Given the description of an element on the screen output the (x, y) to click on. 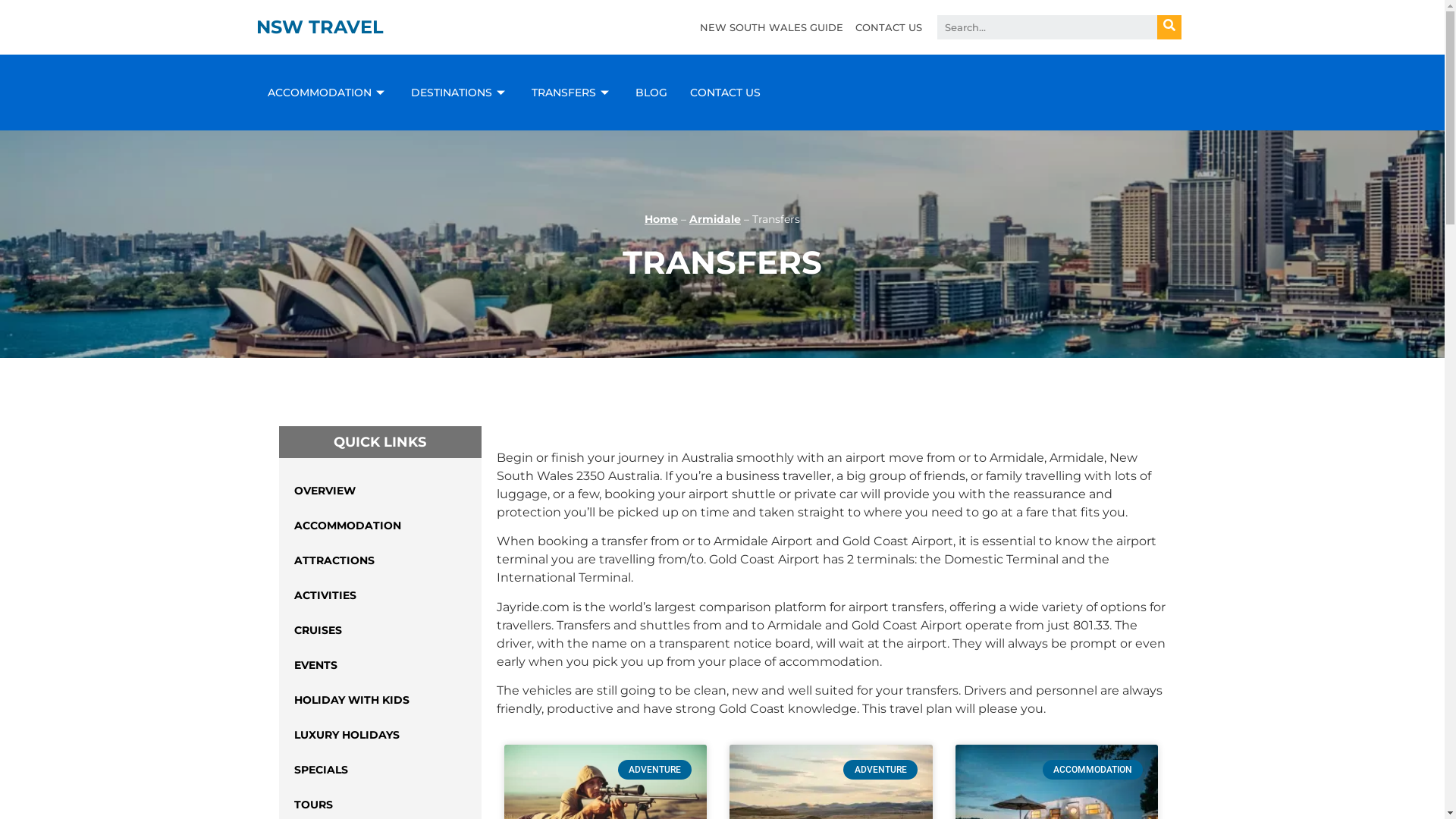
DESTINATIONS Element type: text (458, 92)
LUXURY HOLIDAYS Element type: text (380, 734)
EVENTS Element type: text (380, 664)
ACCOMMODATION Element type: text (327, 92)
CONTACT US Element type: text (888, 27)
ACTIVITIES Element type: text (380, 594)
ACCOMMODATION Element type: text (380, 525)
BLOG Element type: text (650, 92)
ATTRACTIONS Element type: text (380, 559)
CONTACT US Element type: text (724, 92)
NSW TRAVEL Element type: text (319, 26)
Home Element type: text (660, 218)
TRANSFERS Element type: text (572, 92)
HOLIDAY WITH KIDS Element type: text (380, 699)
Armidale Element type: text (714, 218)
OVERVIEW Element type: text (380, 490)
SPECIALS Element type: text (380, 769)
CRUISES Element type: text (380, 629)
